Given the description of an element on the screen output the (x, y) to click on. 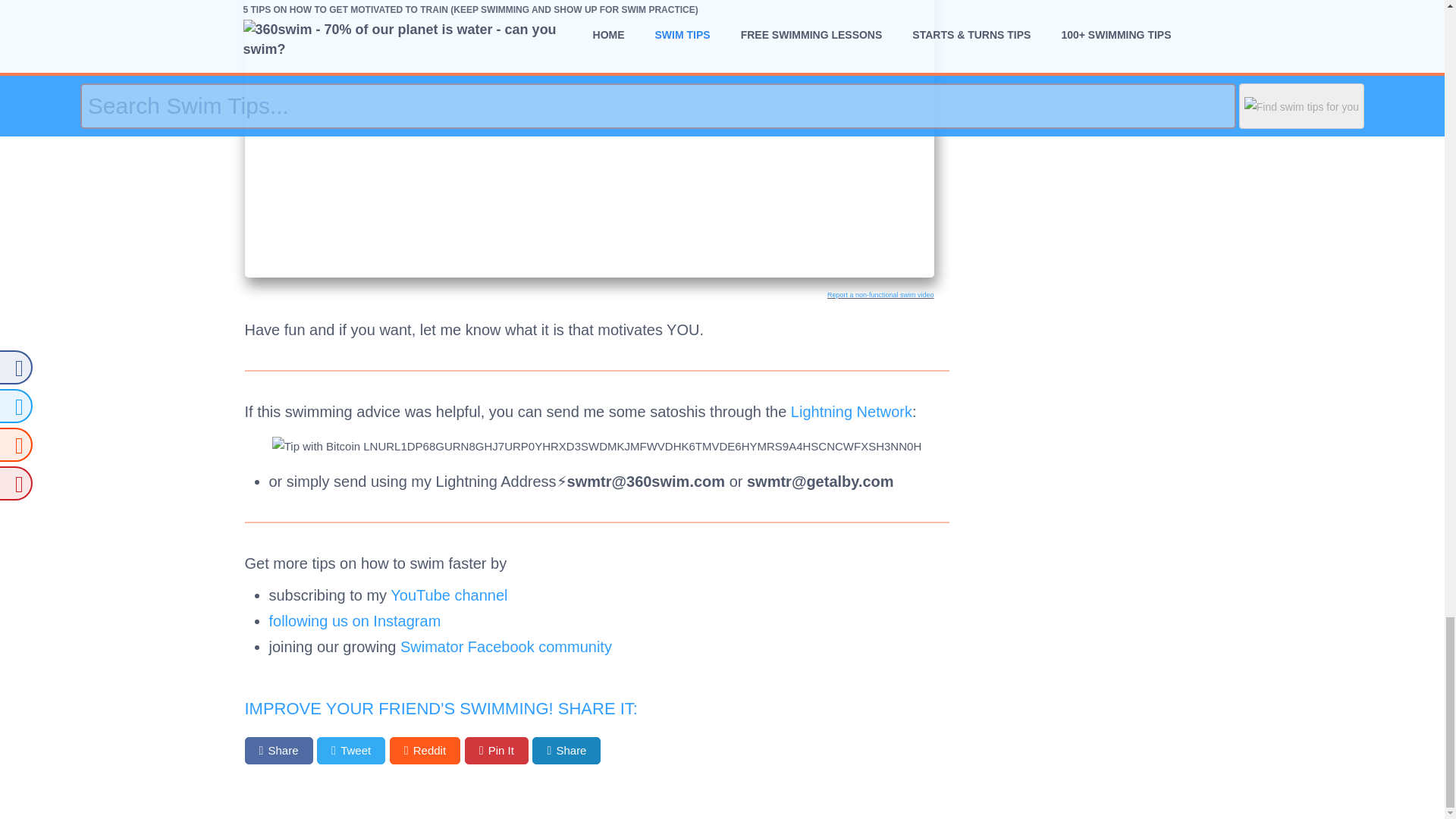
Share (278, 750)
Pin It (496, 750)
Share (565, 750)
Report a non-functional swim video (880, 294)
YouTube channel (448, 595)
Swimator Facebook community (505, 646)
Tweet (351, 750)
Report a non-functional swim video (880, 294)
following us on Instagram (354, 620)
Lightning Network (851, 411)
Reddit (425, 750)
